Given the description of an element on the screen output the (x, y) to click on. 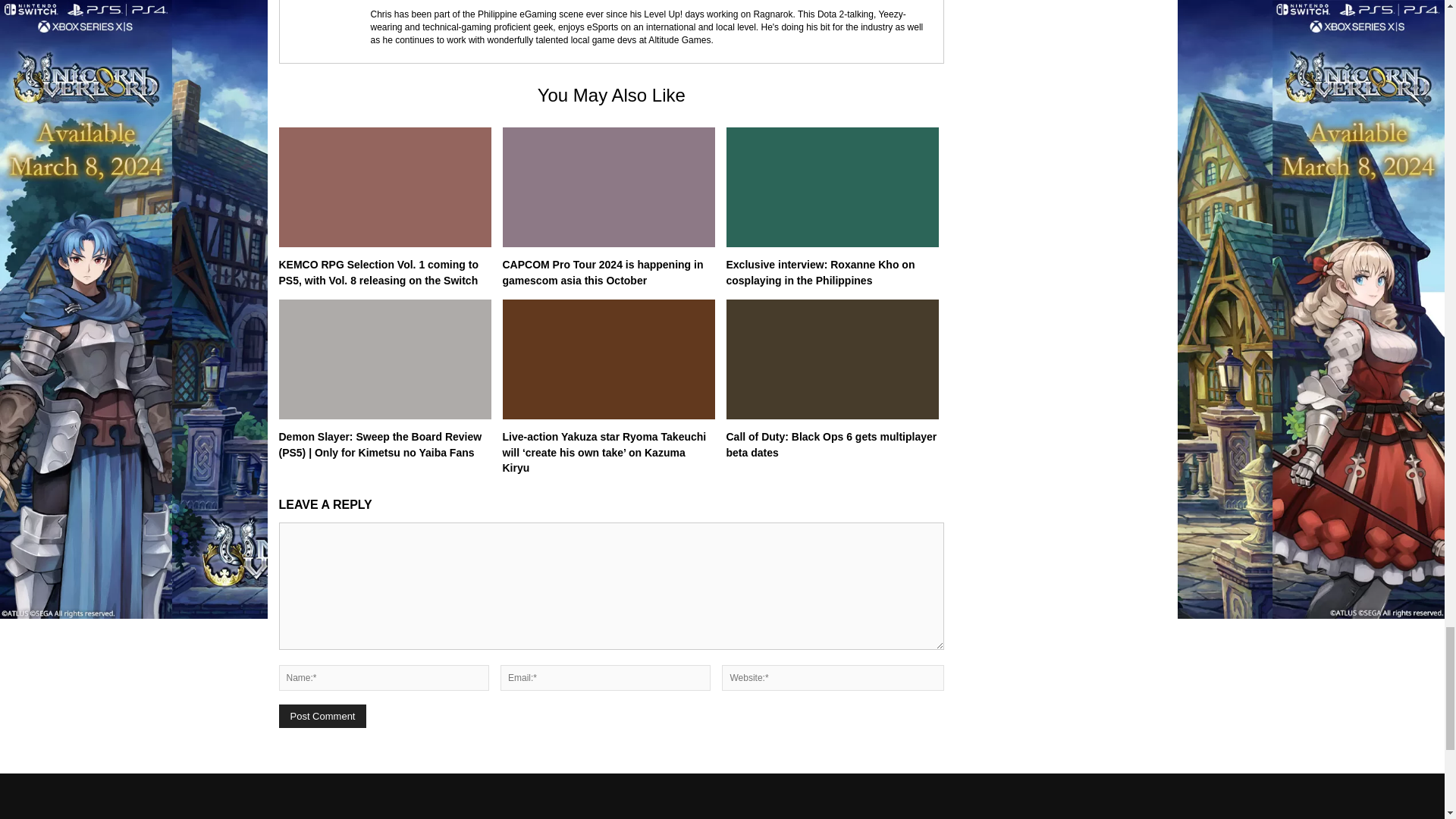
Post Comment (322, 716)
